Given the description of an element on the screen output the (x, y) to click on. 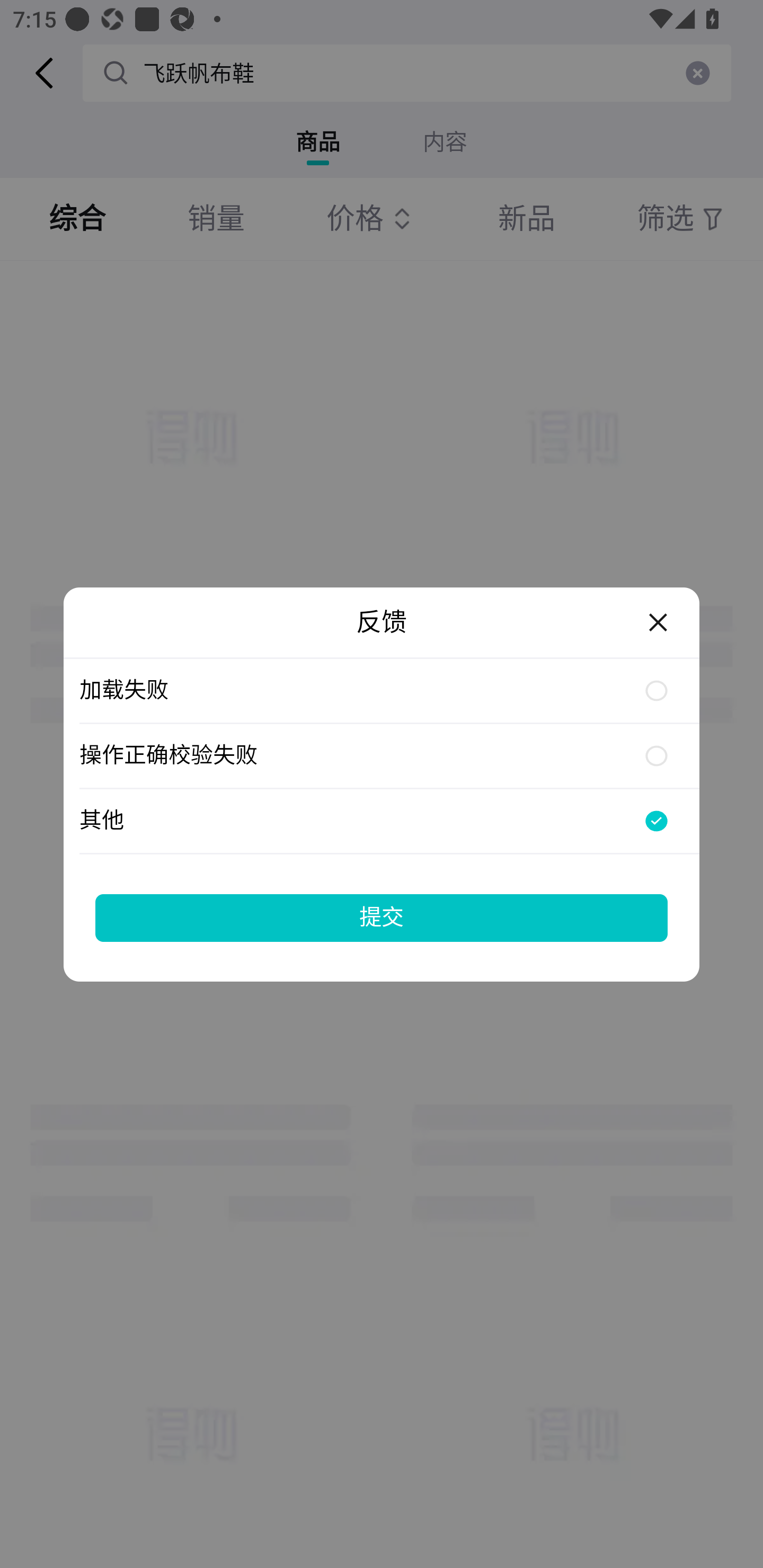
提交 (381, 917)
